Given the description of an element on the screen output the (x, y) to click on. 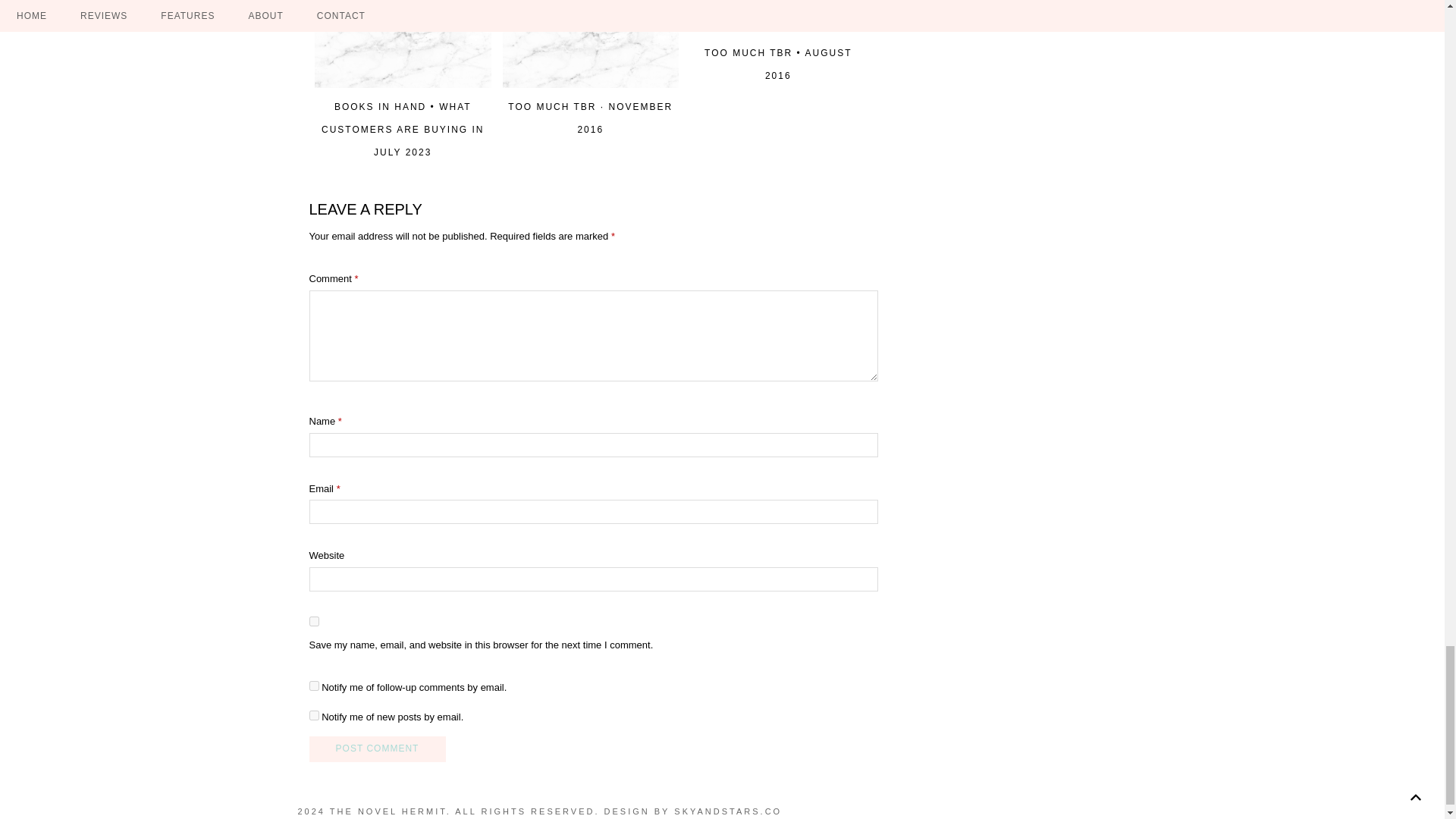
yes (313, 621)
Post Comment (376, 749)
subscribe (313, 715)
subscribe (313, 685)
